Given the description of an element on the screen output the (x, y) to click on. 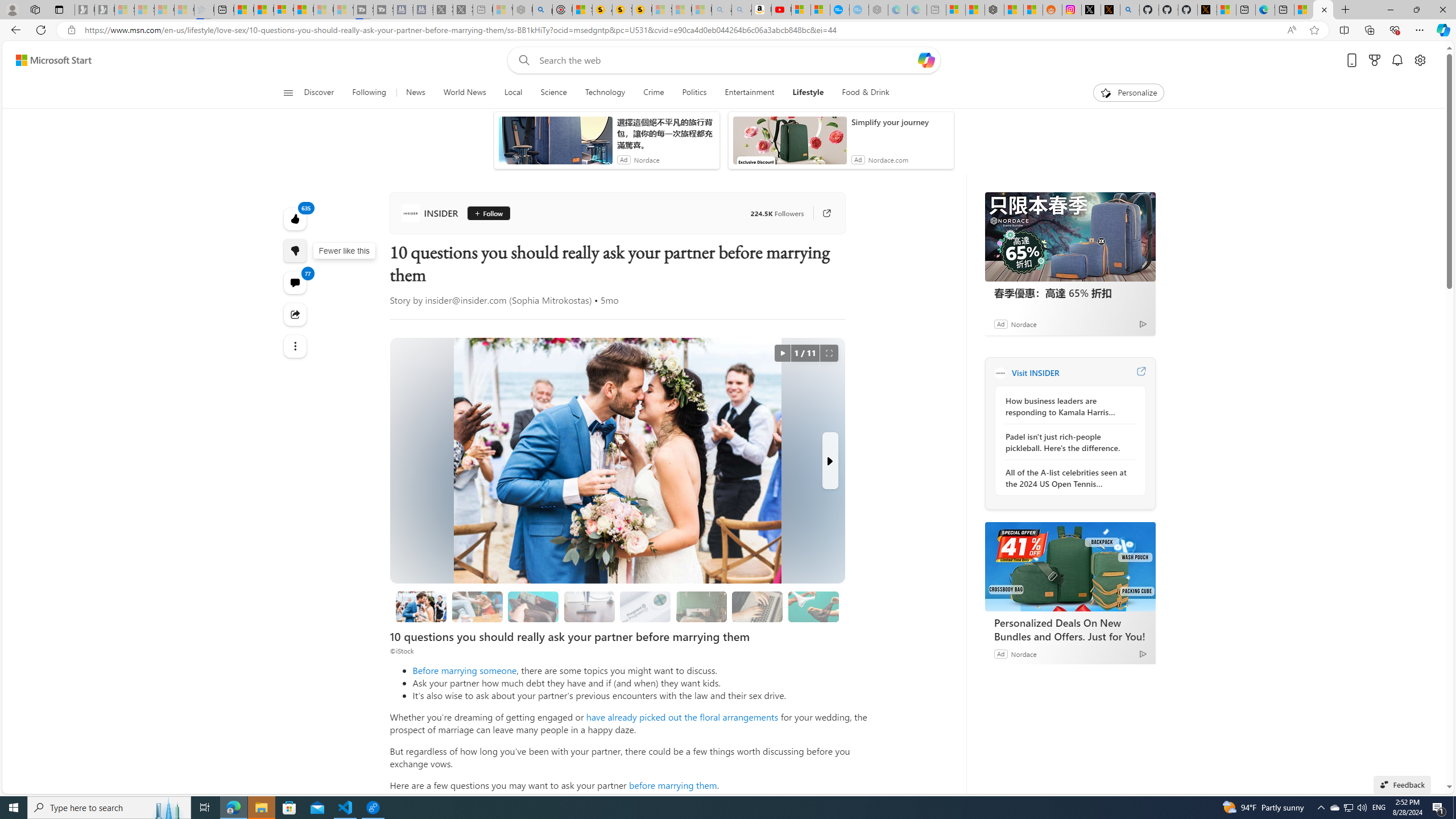
View comments 77 Comment (295, 282)
Next Slide (829, 460)
News (414, 92)
Enter your search term (726, 59)
Follow (487, 213)
News (415, 92)
Personal Profile (12, 9)
To get missing image descriptions, open the context menu. (1105, 92)
Opinion: Op-Ed and Commentary - USA TODAY (839, 9)
What kind of debt do you have? (533, 606)
Entertainment (748, 92)
poe - Search (542, 9)
